Given the description of an element on the screen output the (x, y) to click on. 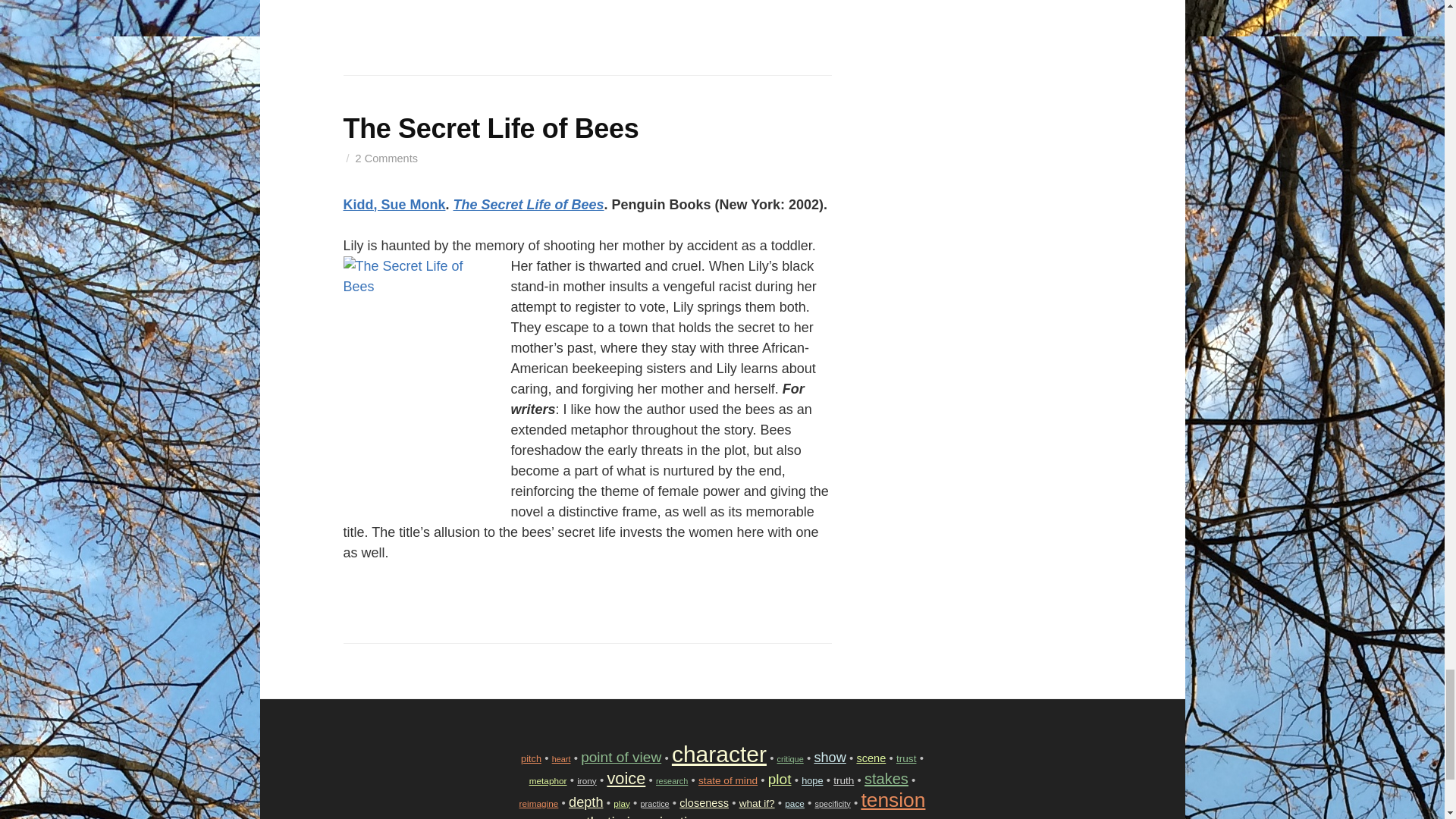
Kidd, Sue Monk (393, 204)
The Secret Life of Bees (490, 127)
show (829, 756)
irony (586, 779)
critique (790, 757)
state of mind (727, 780)
research (671, 780)
character (719, 754)
2 Comments (386, 158)
pitch (531, 757)
